Given the description of an element on the screen output the (x, y) to click on. 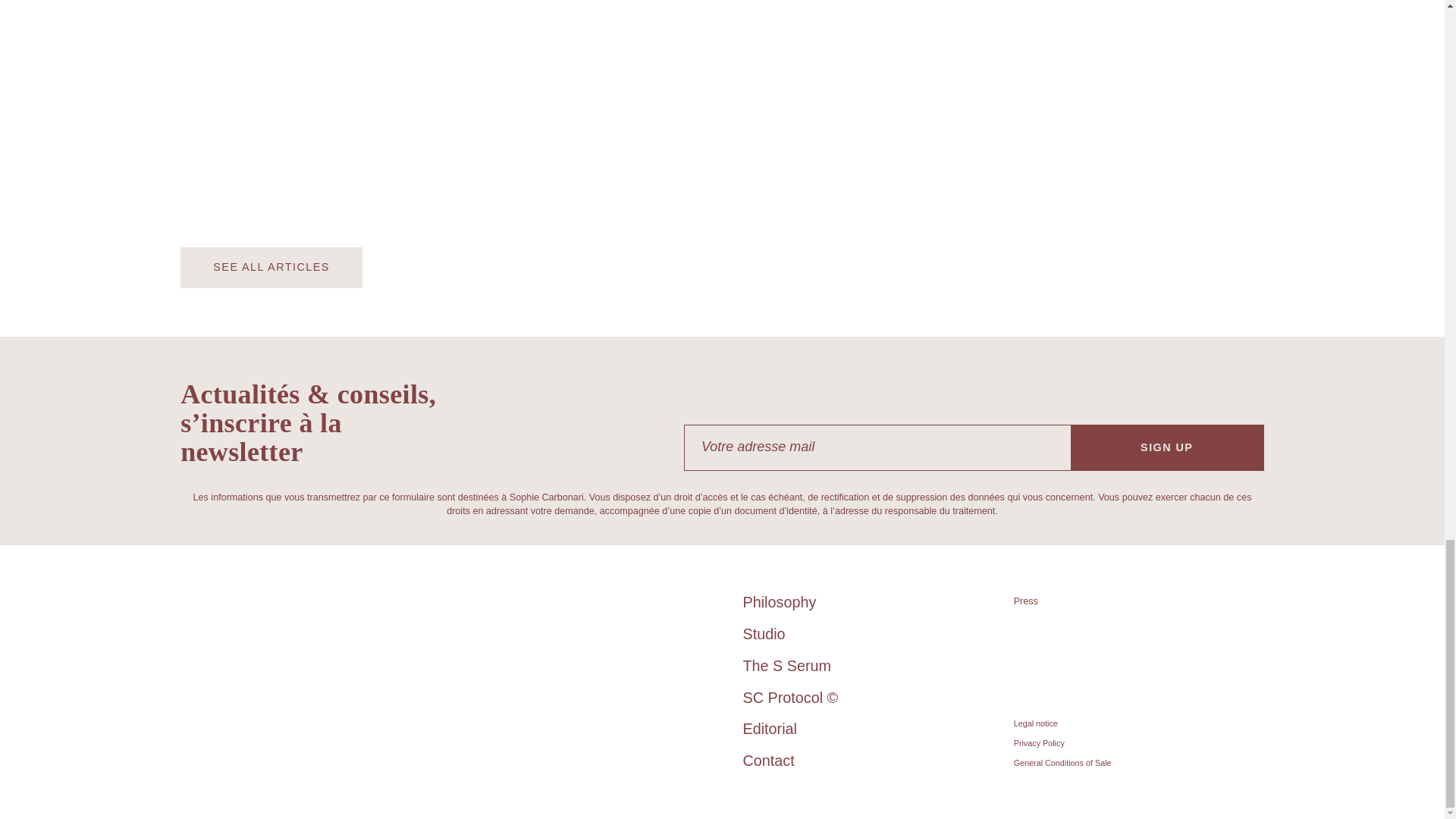
Philosophy (779, 601)
Studio (764, 633)
Legal notice (1035, 723)
Contact (768, 760)
Editorial (769, 728)
Voir tous les articles (271, 267)
Privacy Policy (1038, 742)
SEE ALL ARTICLES (271, 267)
Press (1025, 601)
The S Serum (786, 665)
